Given the description of an element on the screen output the (x, y) to click on. 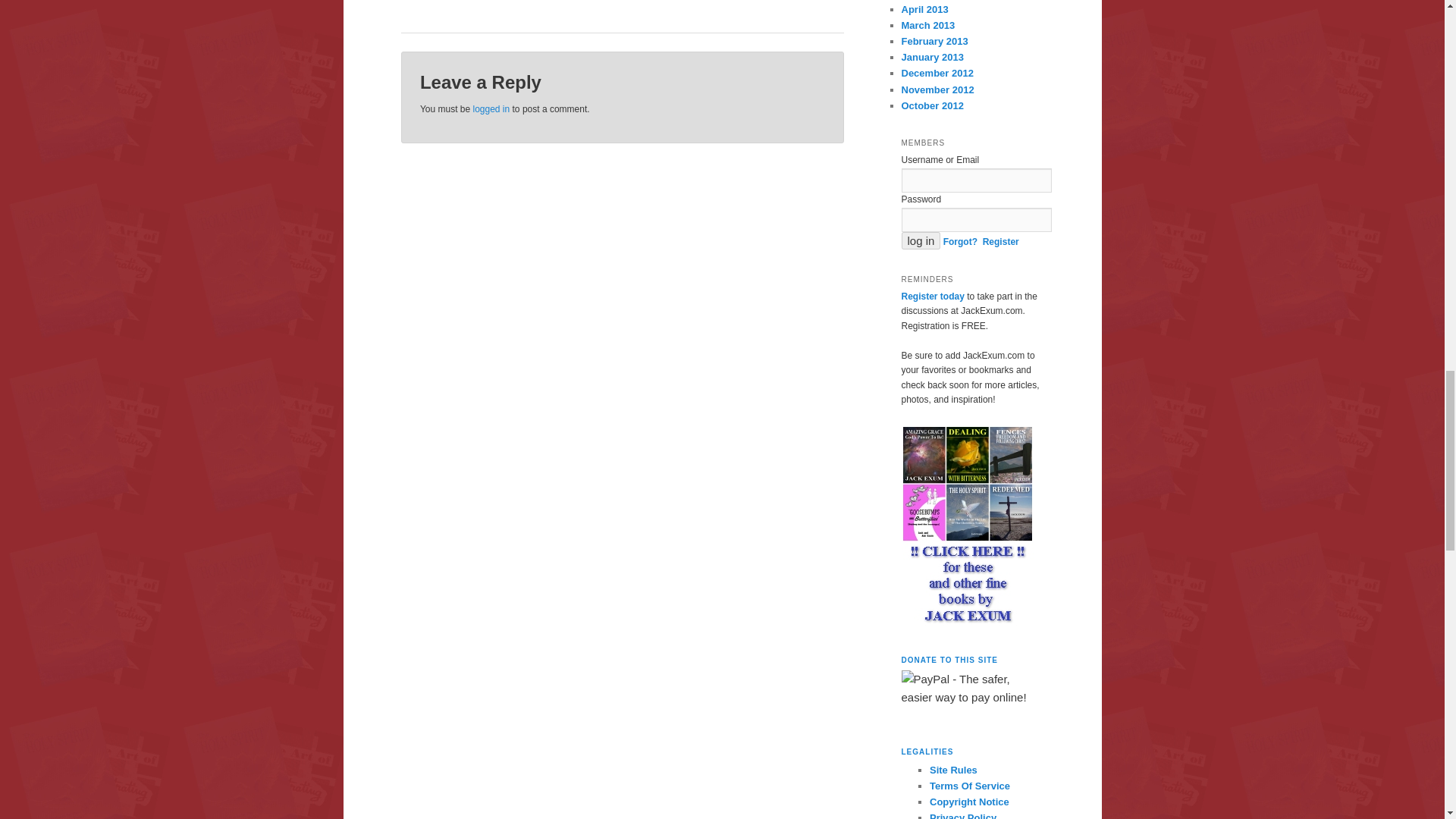
logged in (490, 108)
log in (920, 240)
